Given the description of an element on the screen output the (x, y) to click on. 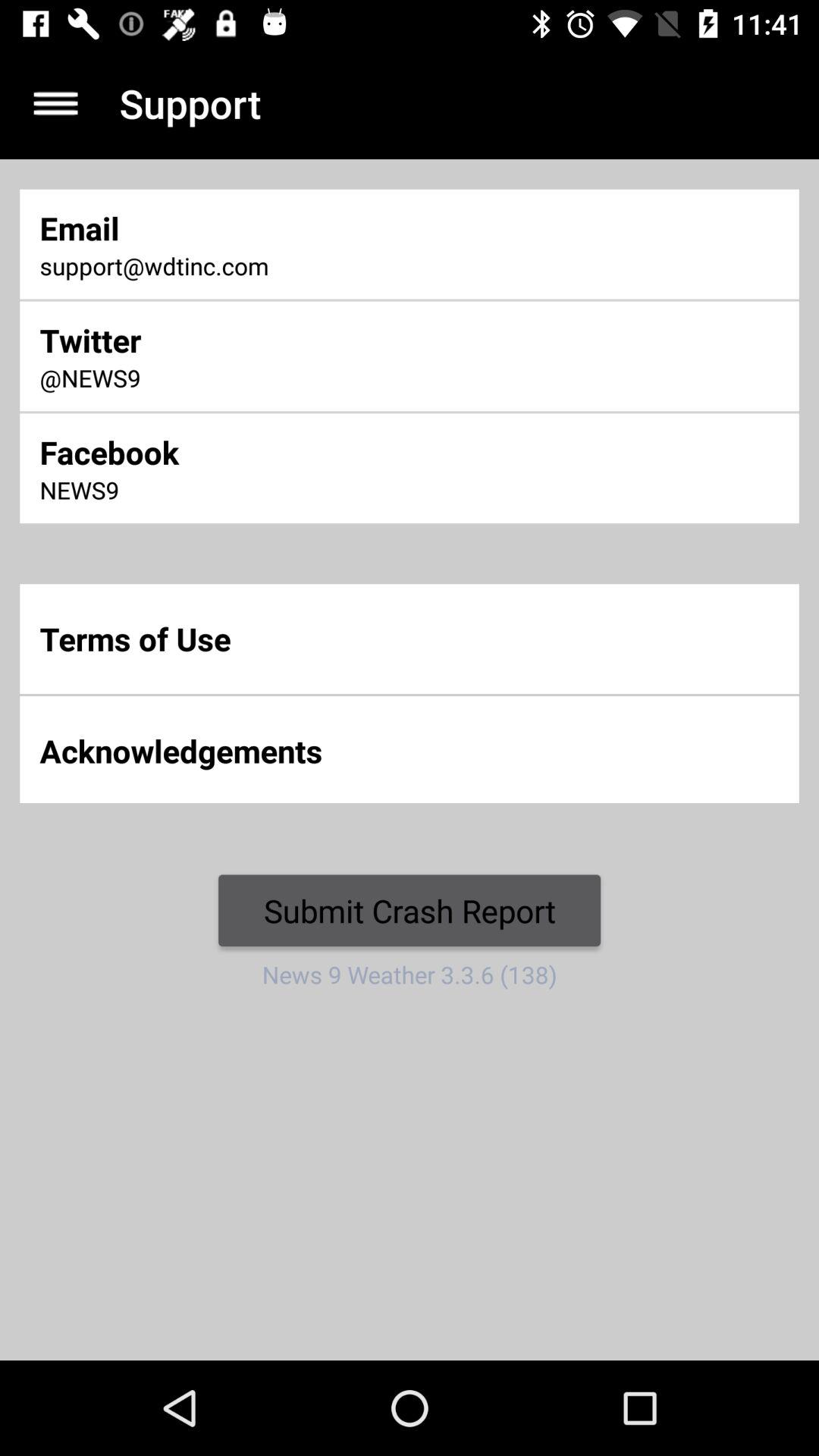
turn on the icon below the acknowledgements item (409, 910)
